Given the description of an element on the screen output the (x, y) to click on. 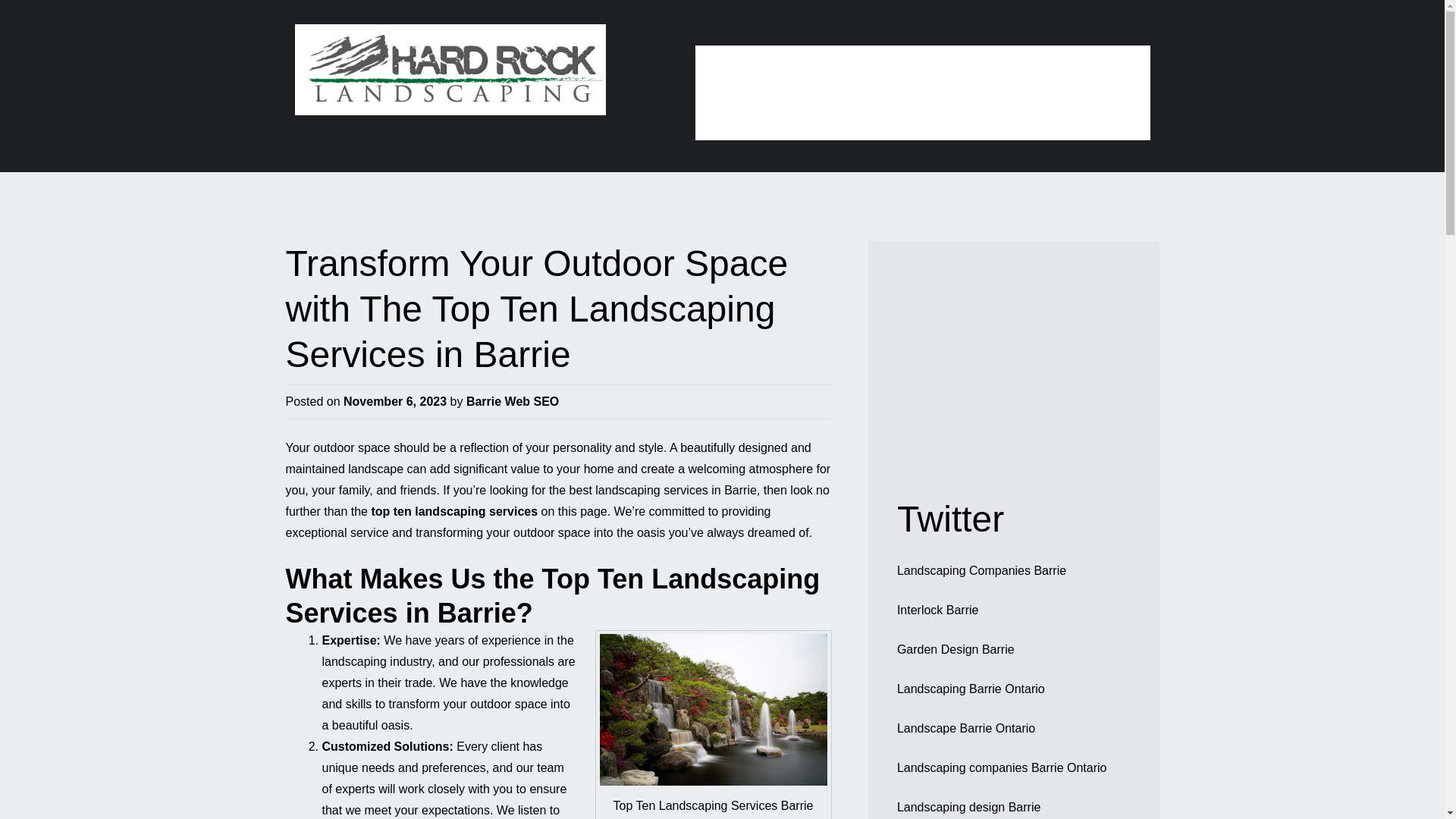
Barrie Web SEO (512, 400)
Home (735, 72)
Blog (988, 72)
Interlock Barrie (937, 609)
About (819, 72)
9:13 pm (394, 400)
Contact Us (1082, 72)
November 6, 2023 (394, 400)
Garden Design Barrie (955, 649)
Landscaping design Barrie (968, 807)
Landscape Barrie Ontario (965, 727)
Landscaping Companies Barrie (980, 570)
View all posts by Barrie Web SEO (512, 400)
Gallery (906, 72)
Landscaping companies Barrie Ontario (1001, 767)
